Given the description of an element on the screen output the (x, y) to click on. 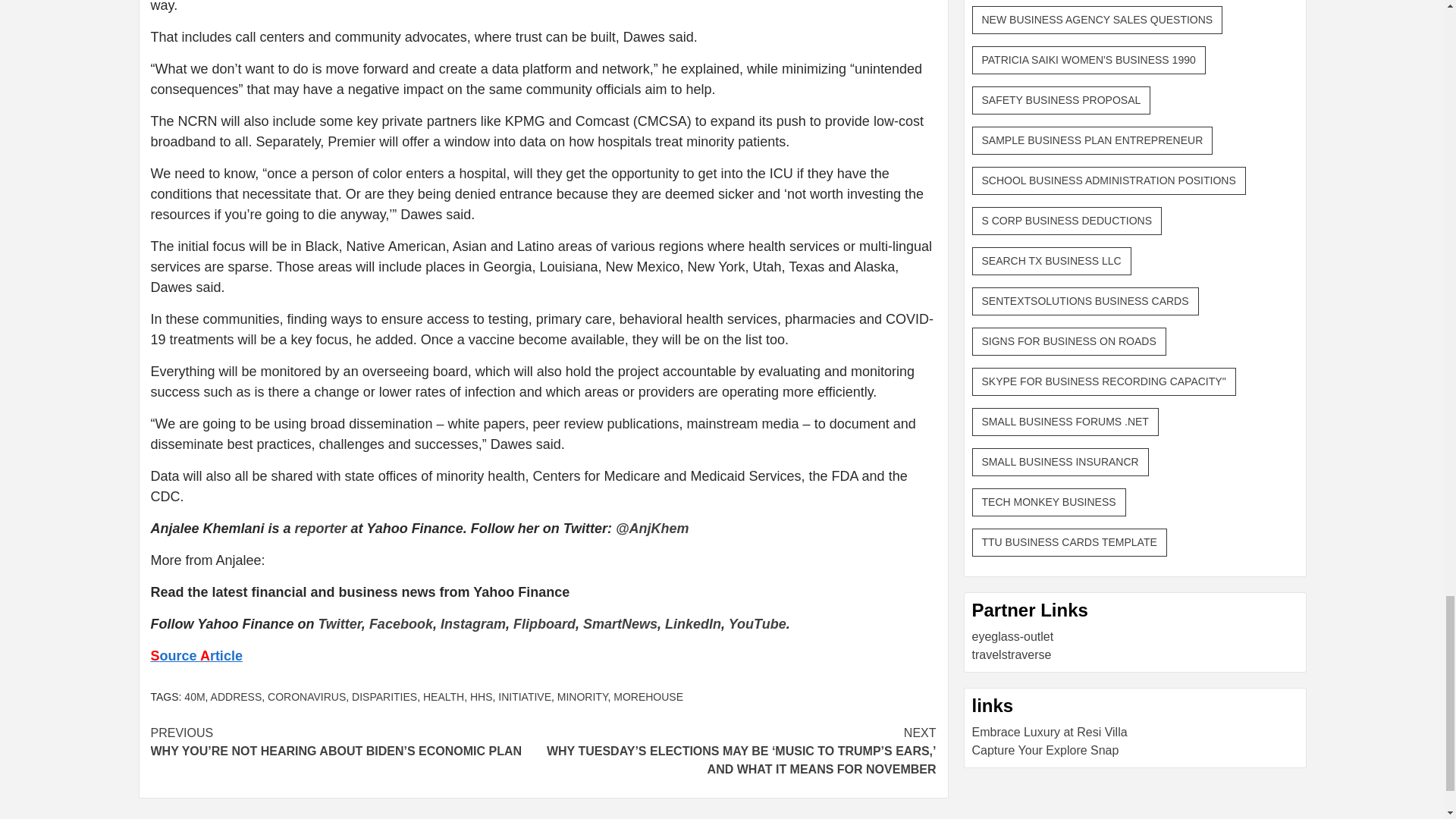
HEALTH (443, 696)
Source Article (195, 655)
reporter (321, 528)
SmartNews (620, 623)
ADDRESS (236, 696)
DISPARITIES (384, 696)
Flipboard (544, 623)
CORONAVIRUS (306, 696)
40M (194, 696)
LinkedIn (692, 623)
